Given the description of an element on the screen output the (x, y) to click on. 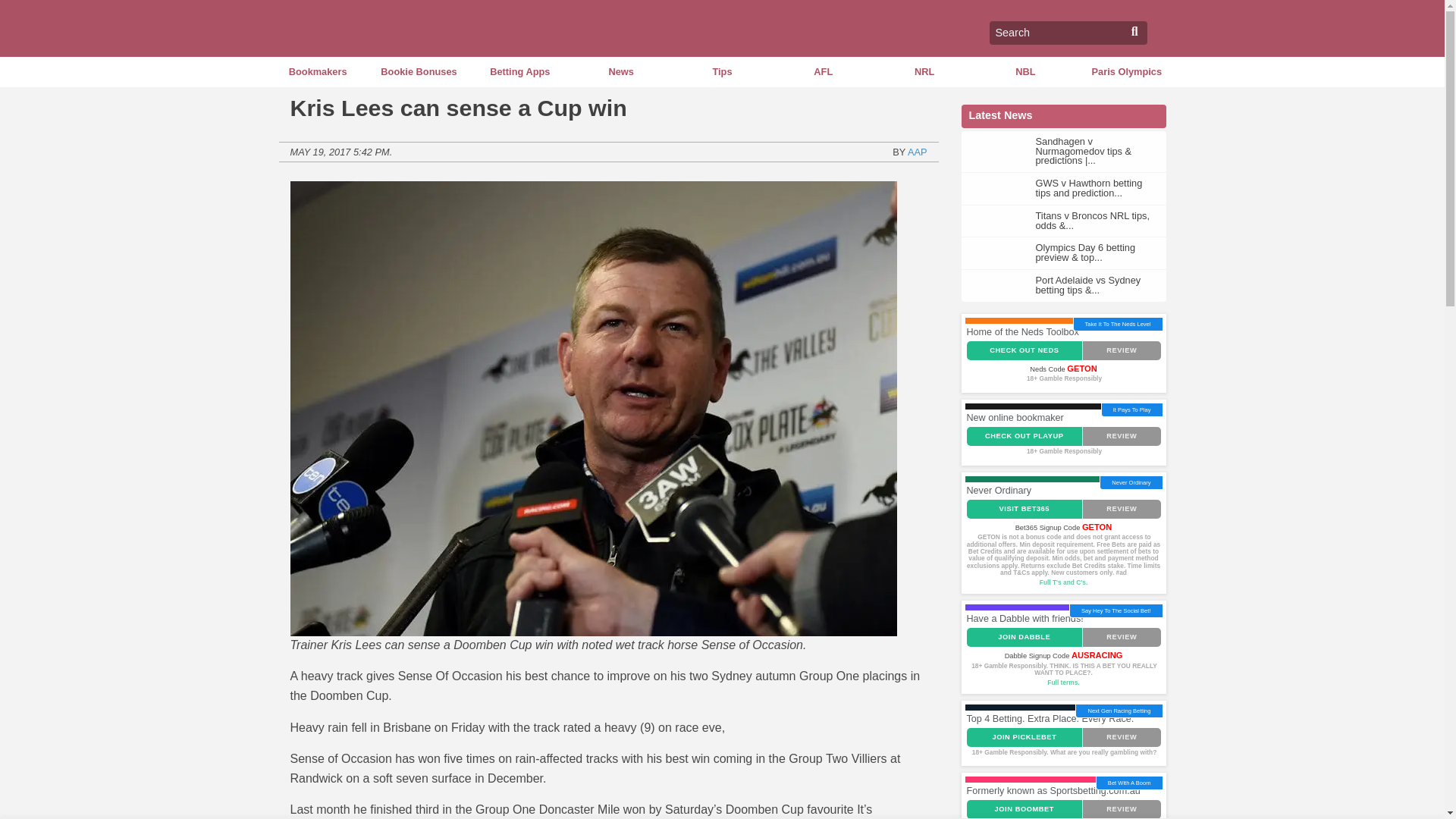
Paris Olympics (1125, 71)
Bookie Bonuses (418, 71)
Bookmakers (317, 71)
News (620, 71)
Tips (722, 71)
Paris Olympics (1125, 71)
Betting Apps (519, 71)
NBL (1025, 71)
AAP (917, 152)
Tips (722, 71)
NRL (923, 71)
Betting Apps (519, 71)
AFL (823, 71)
Bookmakers (317, 71)
AFL (823, 71)
